Given the description of an element on the screen output the (x, y) to click on. 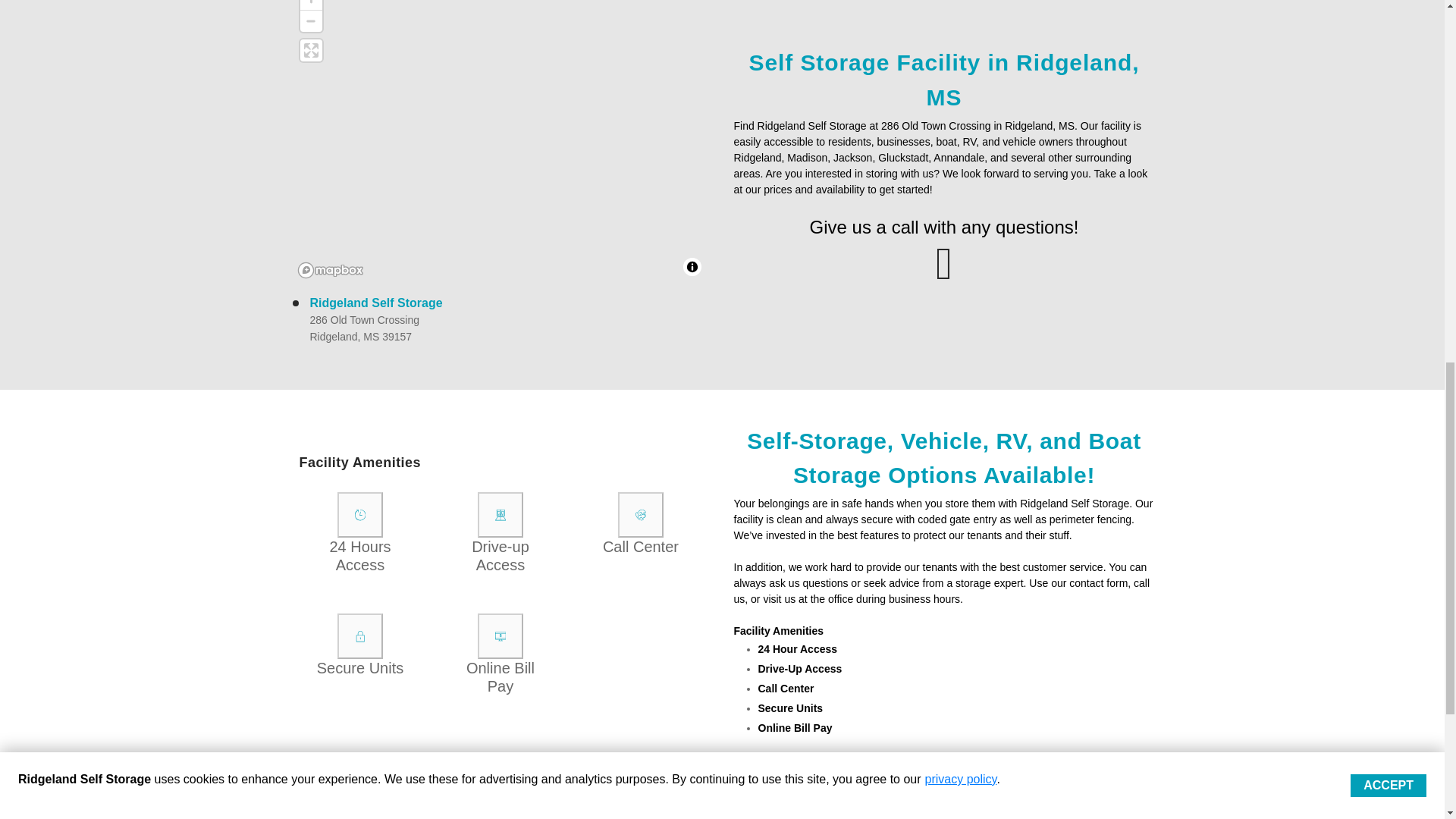
Zoom out (310, 20)
24 Hours Access (359, 514)
Zoom in (310, 4)
Secure Units (360, 636)
Call Center (640, 514)
Online Bill Pay (500, 636)
Enter fullscreen (310, 50)
Drive-up Access (499, 514)
Drive-up Access (500, 514)
Ridgeland Self Storage (375, 303)
